Given the description of an element on the screen output the (x, y) to click on. 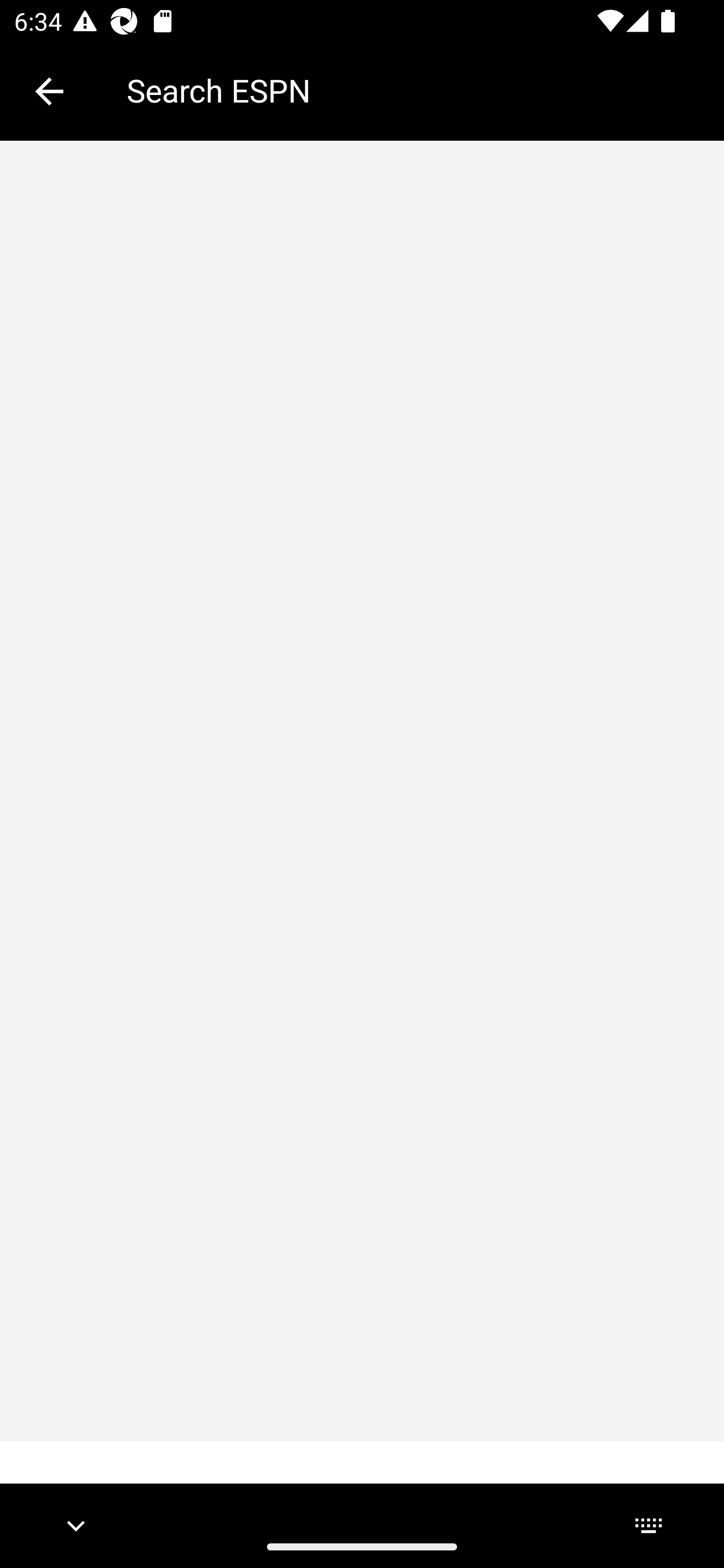
Collapse (49, 91)
Search ESPN (411, 90)
